Given the description of an element on the screen output the (x, y) to click on. 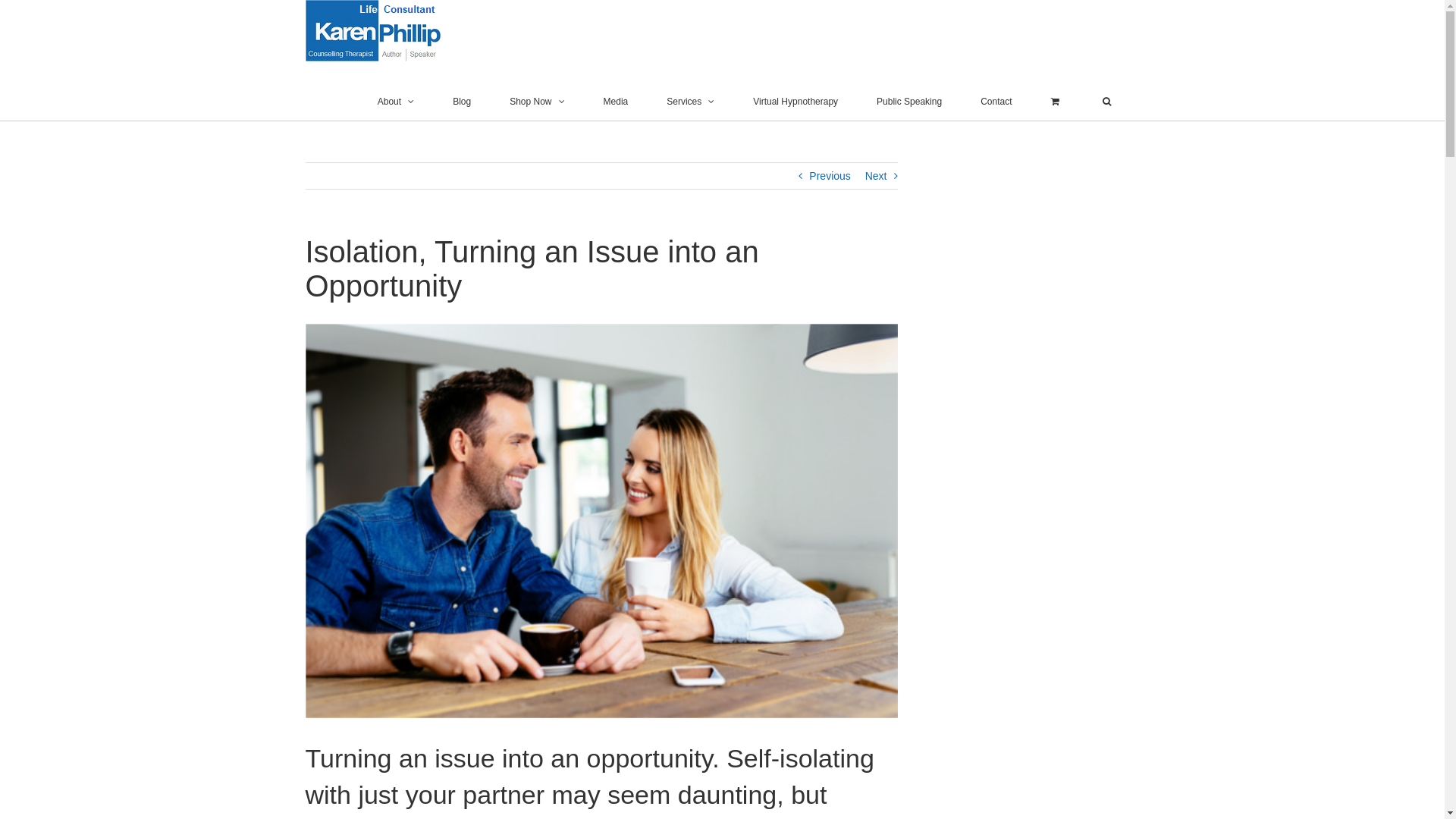
Search Element type: hover (1106, 101)
Previous Element type: text (829, 175)
View Larger Image Element type: text (600, 520)
Virtual Hypnotherapy Element type: text (795, 101)
Shop Now Element type: text (536, 101)
About Element type: text (395, 101)
Next Element type: text (876, 175)
Services Element type: text (690, 101)
Public Speaking Element type: text (908, 101)
Contact Element type: text (995, 101)
Media Element type: text (615, 101)
Blog Element type: text (461, 101)
